Given the description of an element on the screen output the (x, y) to click on. 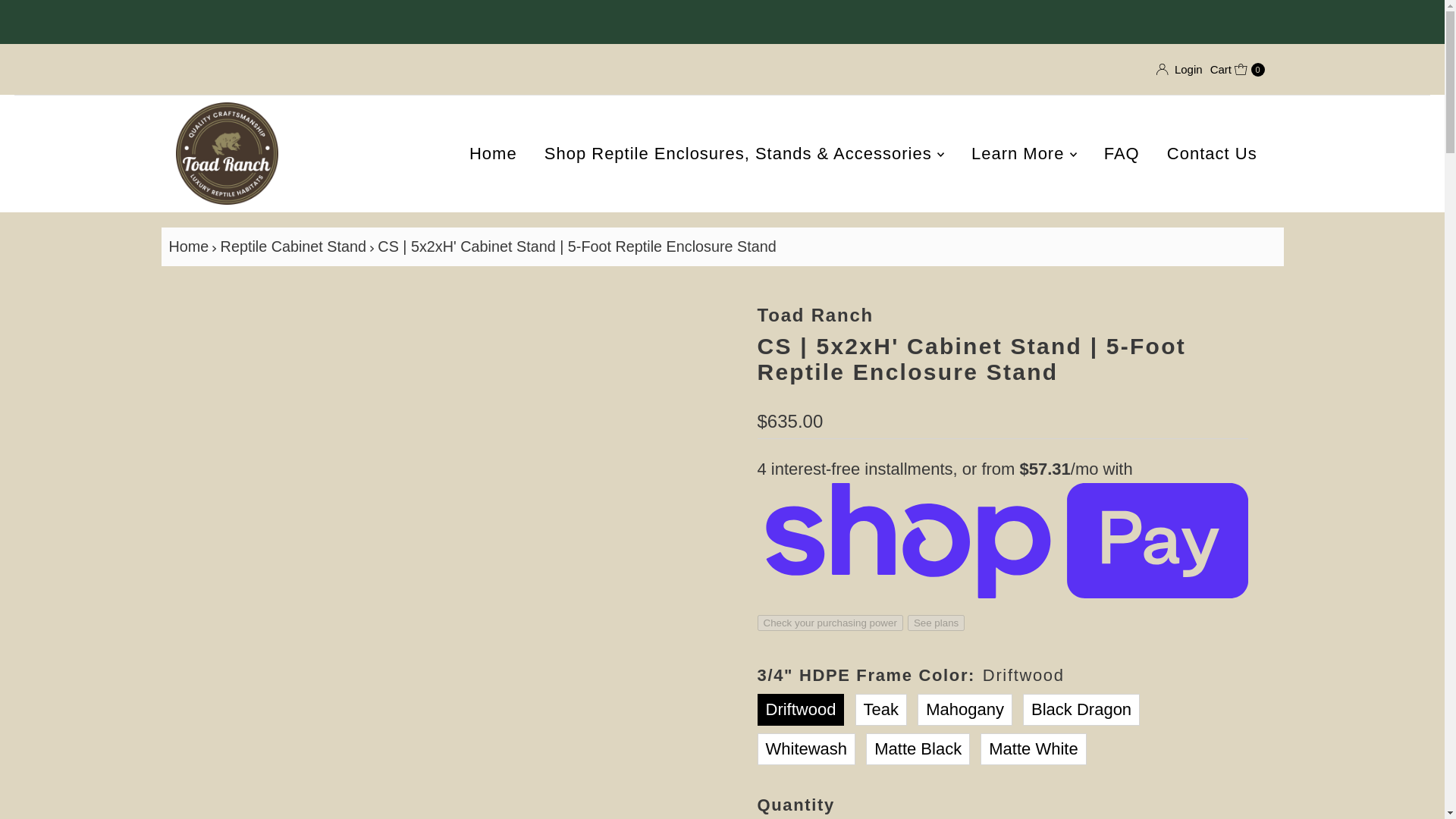
Reptile Cabinet Stand (295, 246)
Back to the frontpage (190, 246)
Skip to content (72, 18)
